Given the description of an element on the screen output the (x, y) to click on. 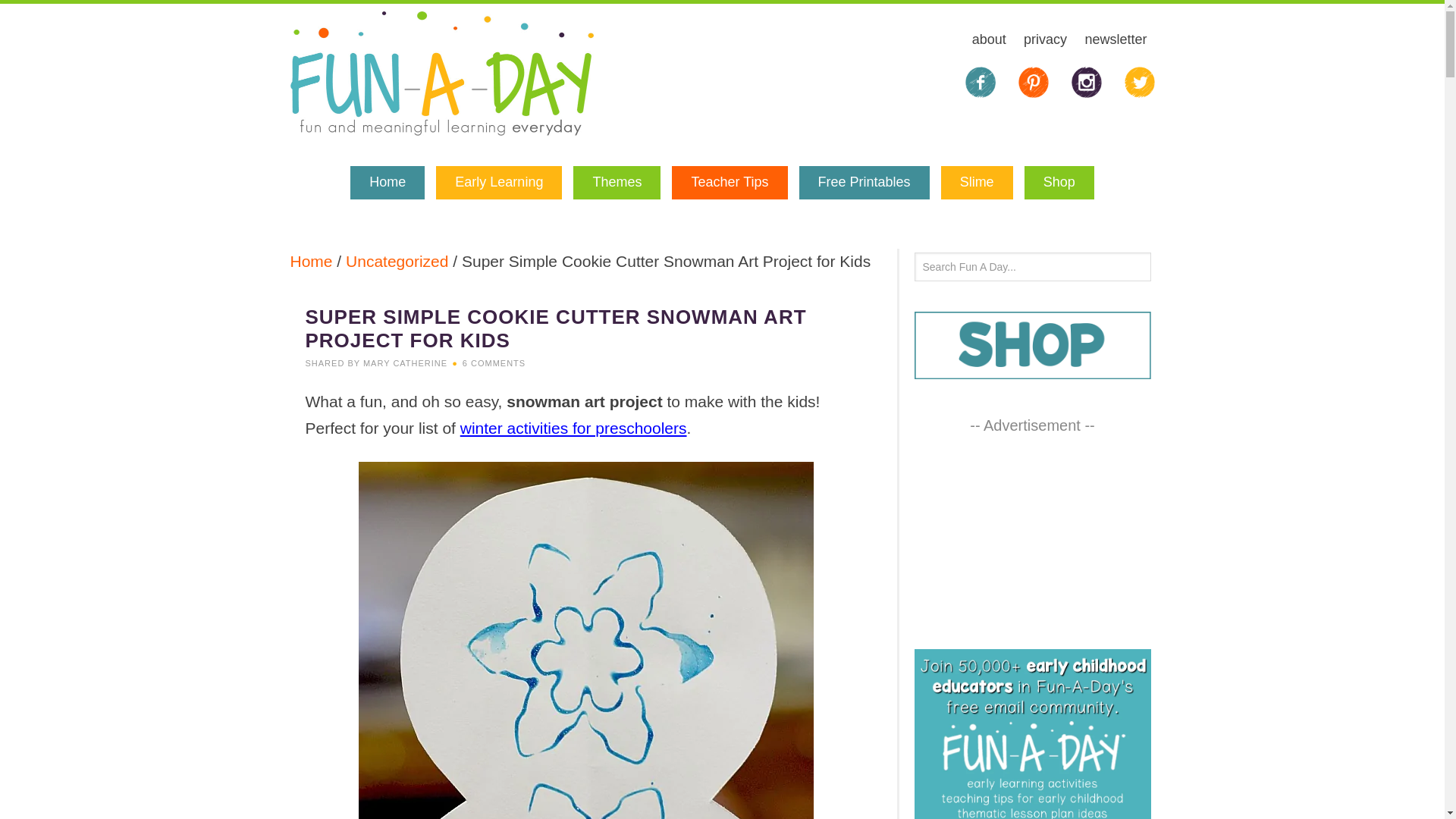
6 COMMENTS (494, 362)
Uncategorized (397, 261)
MARY CATHERINE (404, 362)
Themes (617, 182)
Early Learning (498, 182)
privacy (1045, 40)
Teacher Tips (729, 182)
about (988, 40)
newsletter (1115, 40)
winter activities for preschoolers (573, 427)
